Given the description of an element on the screen output the (x, y) to click on. 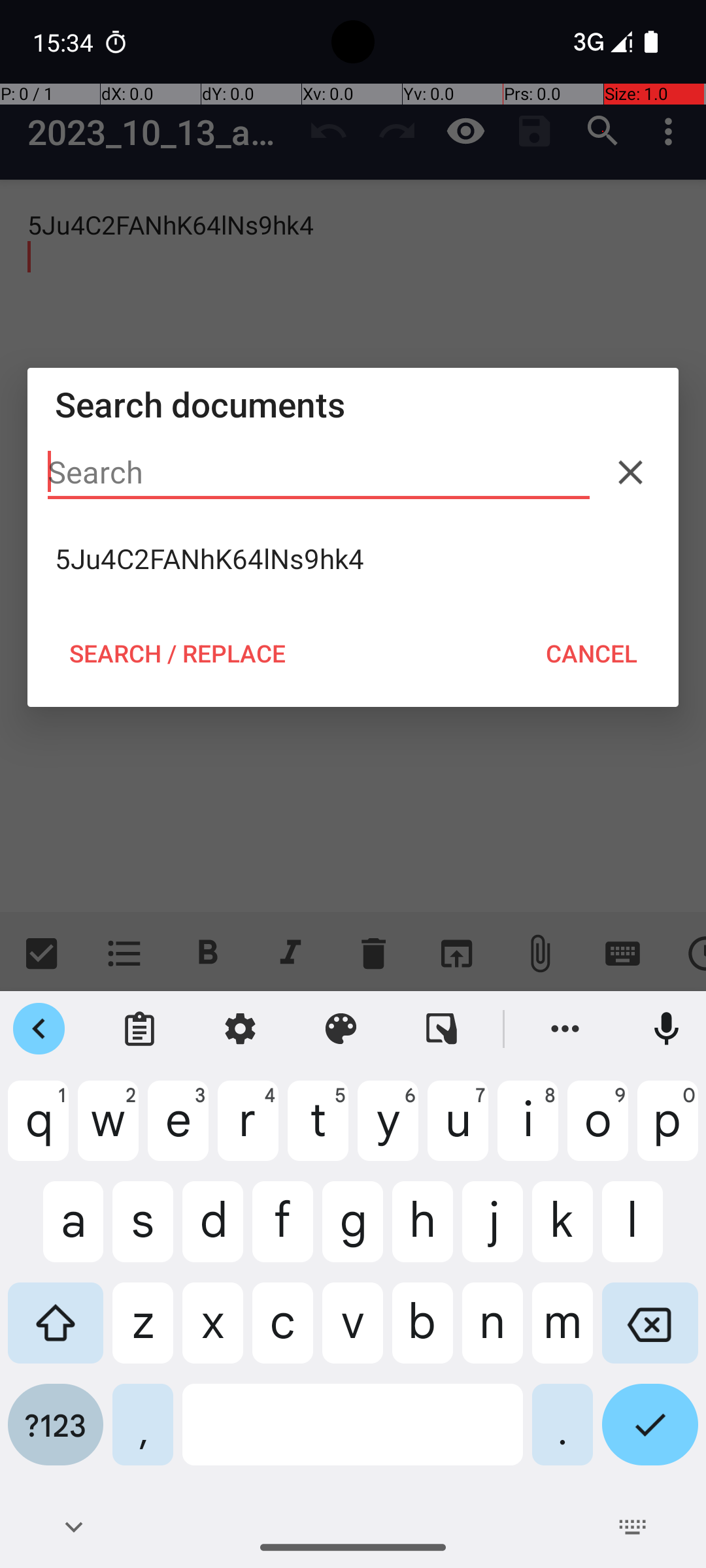
5Ju4C2FANhK64lNs9hk4 Element type: android.widget.TextView (352, 558)
